Given the description of an element on the screen output the (x, y) to click on. 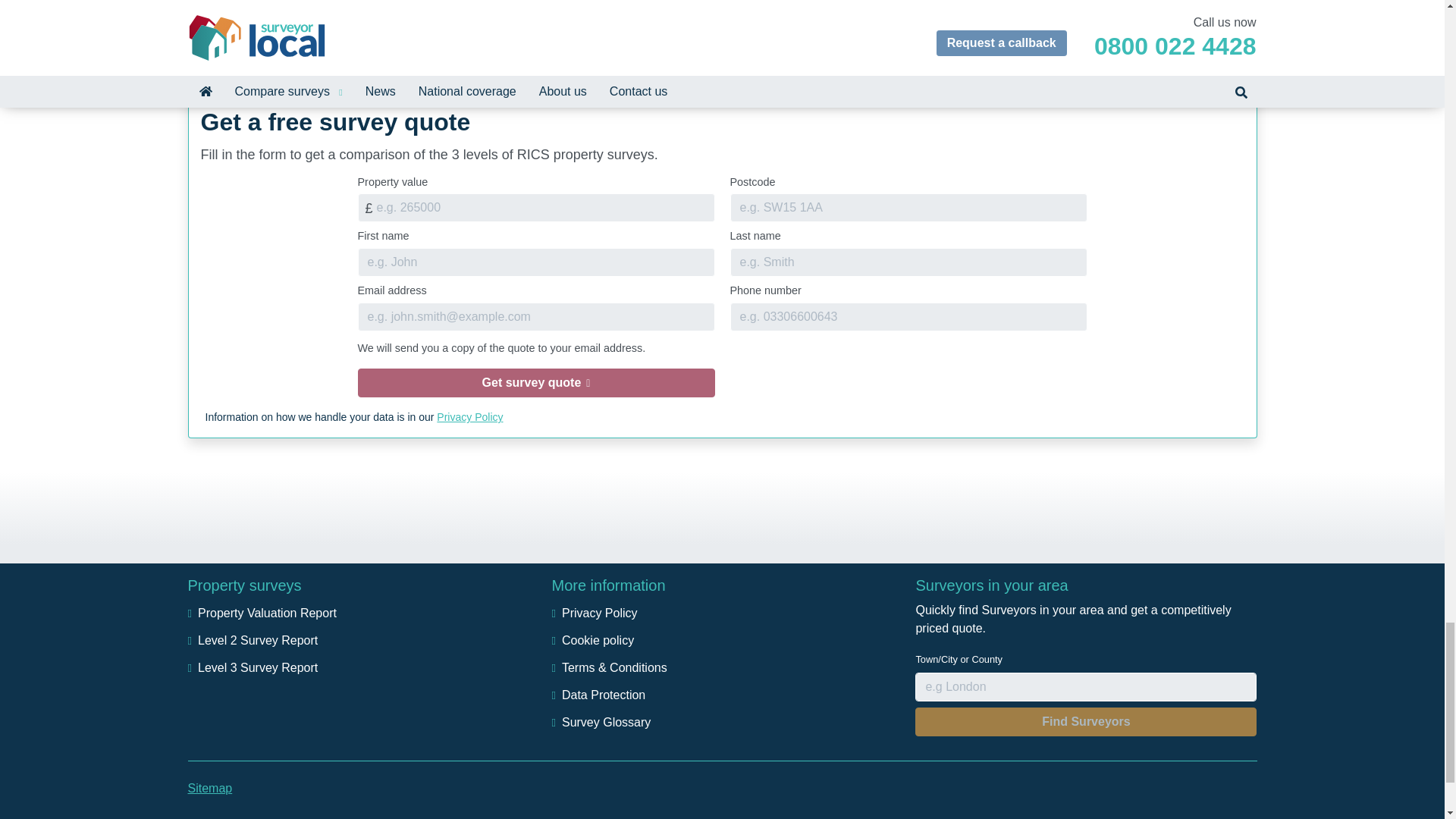
Privacy Policy (469, 417)
Data Protection (598, 694)
Level 3 Survey Report (252, 667)
Privacy Policy (594, 612)
0800 022 4428 (444, 8)
Property Valuation Report (261, 612)
Cookie policy (592, 640)
Level 2 Survey Report (252, 640)
Get survey quote (536, 382)
Survey Glossary (600, 721)
